Given the description of an element on the screen output the (x, y) to click on. 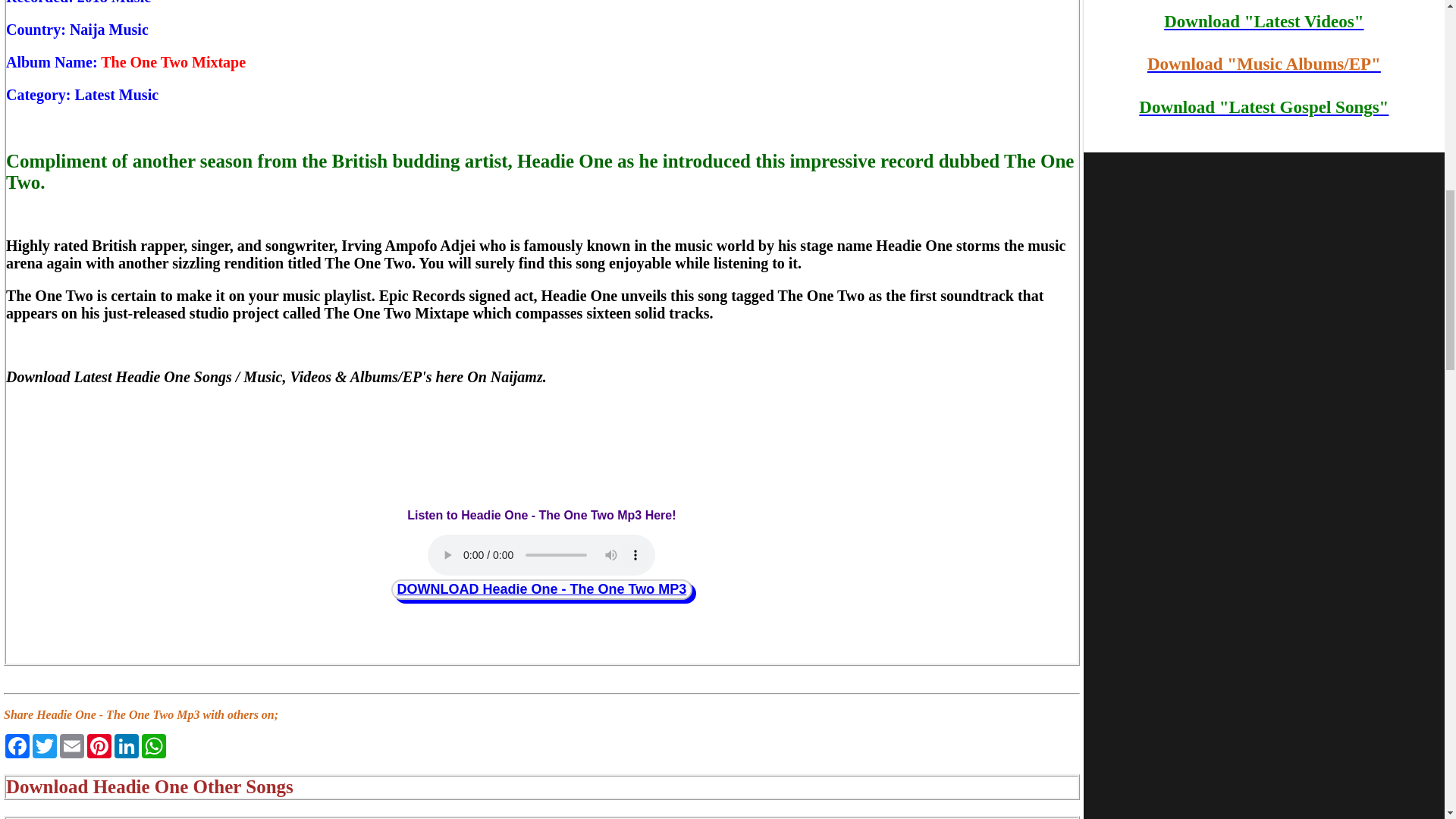
The One Two Mixtape (173, 62)
Email (71, 745)
LinkedIn (126, 745)
DOWNLOAD Headie One - The One Two MP3 (542, 589)
Naija Music (108, 29)
Twitter (44, 745)
Latest Music (116, 94)
2018 Music (114, 2)
Facebook (17, 745)
DOWNLOAD Headie One - The One Two MP3 (542, 589)
Pinterest (99, 745)
WhatsApp (153, 745)
